Given the description of an element on the screen output the (x, y) to click on. 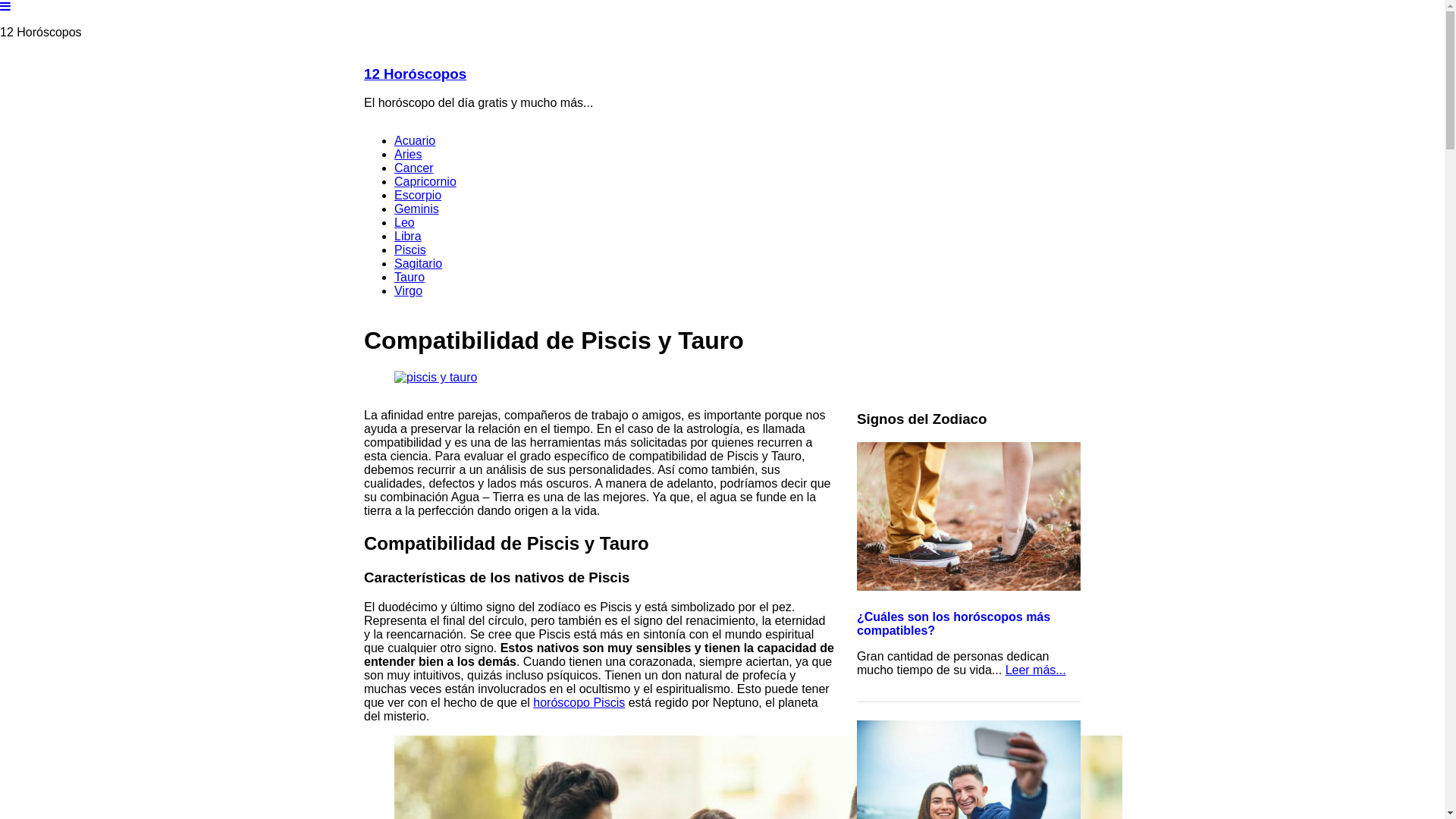
Libra Element type: text (407, 235)
Geminis Element type: text (416, 208)
Leo Element type: text (404, 222)
Cancer Element type: text (413, 167)
Tauro Element type: text (409, 276)
Acuario Element type: text (414, 140)
Virgo Element type: text (408, 290)
Aries Element type: text (407, 153)
Piscis Element type: text (410, 249)
Escorpio Element type: text (417, 194)
Sagitario Element type: text (418, 263)
Capricornio Element type: text (425, 181)
